Given the description of an element on the screen output the (x, y) to click on. 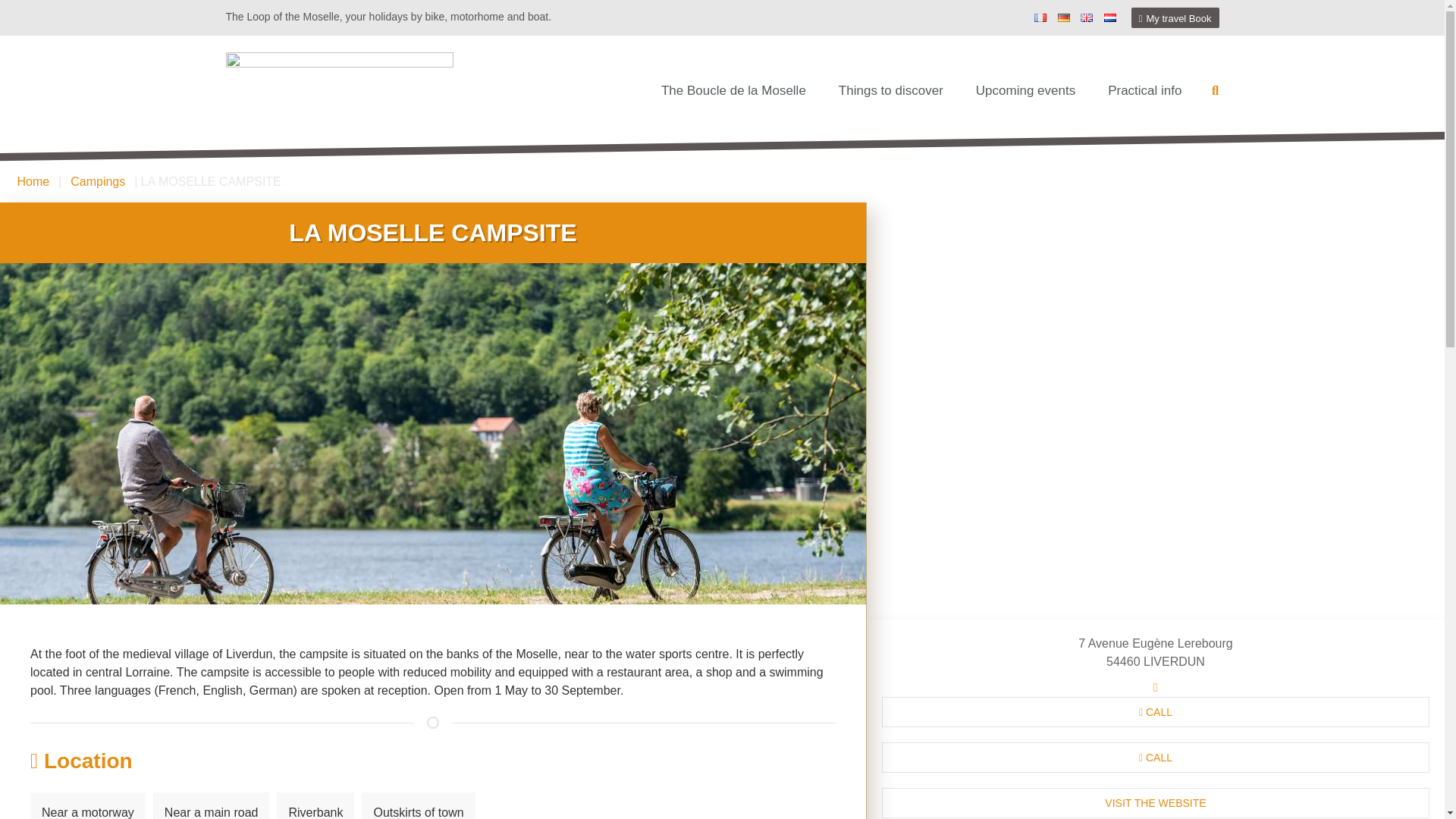
Upcoming events (1025, 91)
Things to discover (890, 91)
The Boucle de la Moselle (733, 91)
My travel Book (1175, 17)
